Given the description of an element on the screen output the (x, y) to click on. 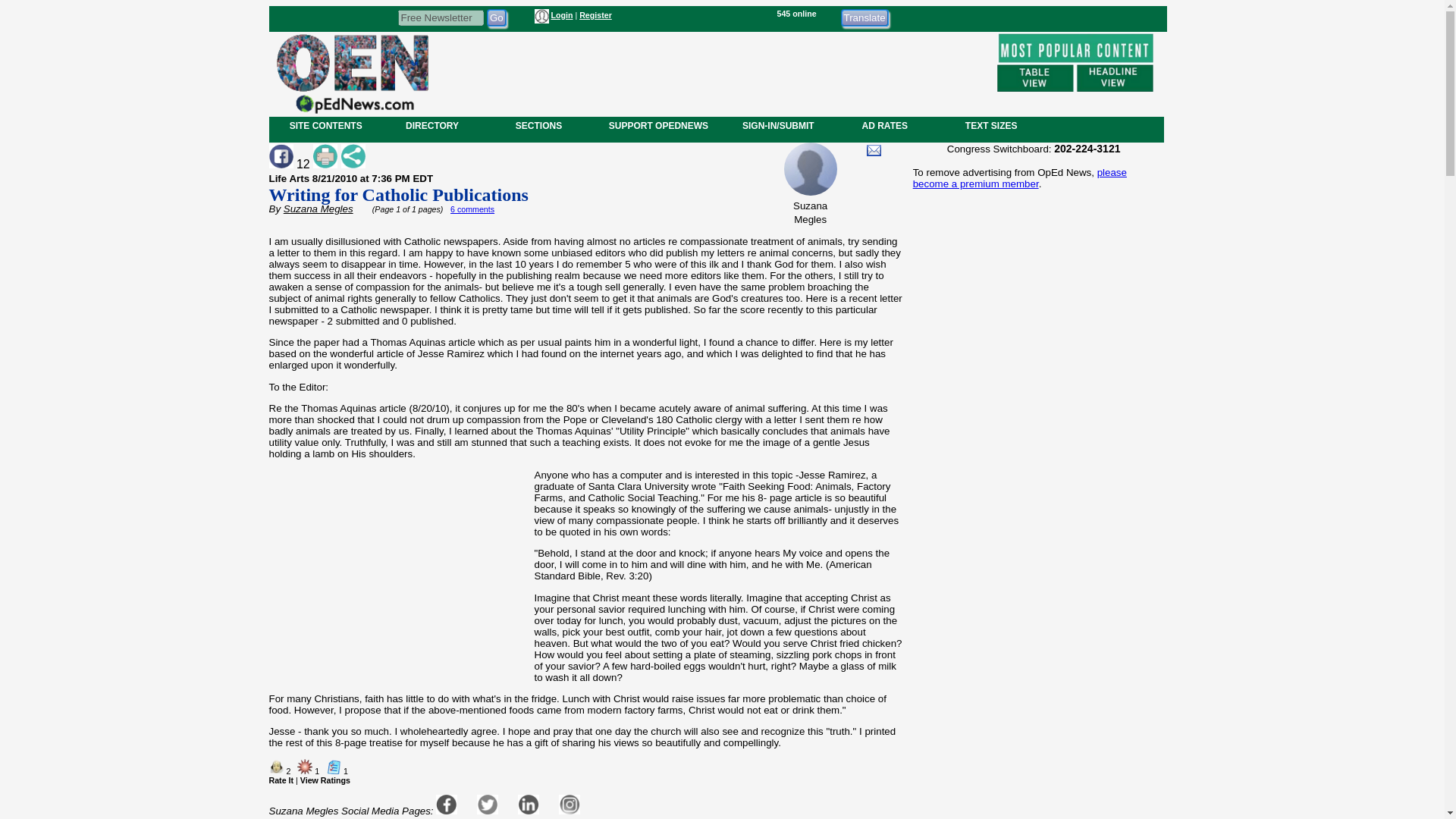
More Sharing (352, 156)
Linkedin page url on login Profile not filled in (528, 804)
Twitter page url on login Profile not filled in (487, 804)
Supported (333, 766)
Advertisement (397, 587)
TEXT SIZES (990, 125)
SUPPORT OPEDNEWS (658, 125)
Must Read (305, 766)
AD RATES (884, 125)
View Ratings (324, 779)
Rate It (280, 779)
DIRECTORY (431, 125)
Instagram page url on login Profile not filled in (569, 804)
Well Said (275, 766)
Register (595, 14)
